Given the description of an element on the screen output the (x, y) to click on. 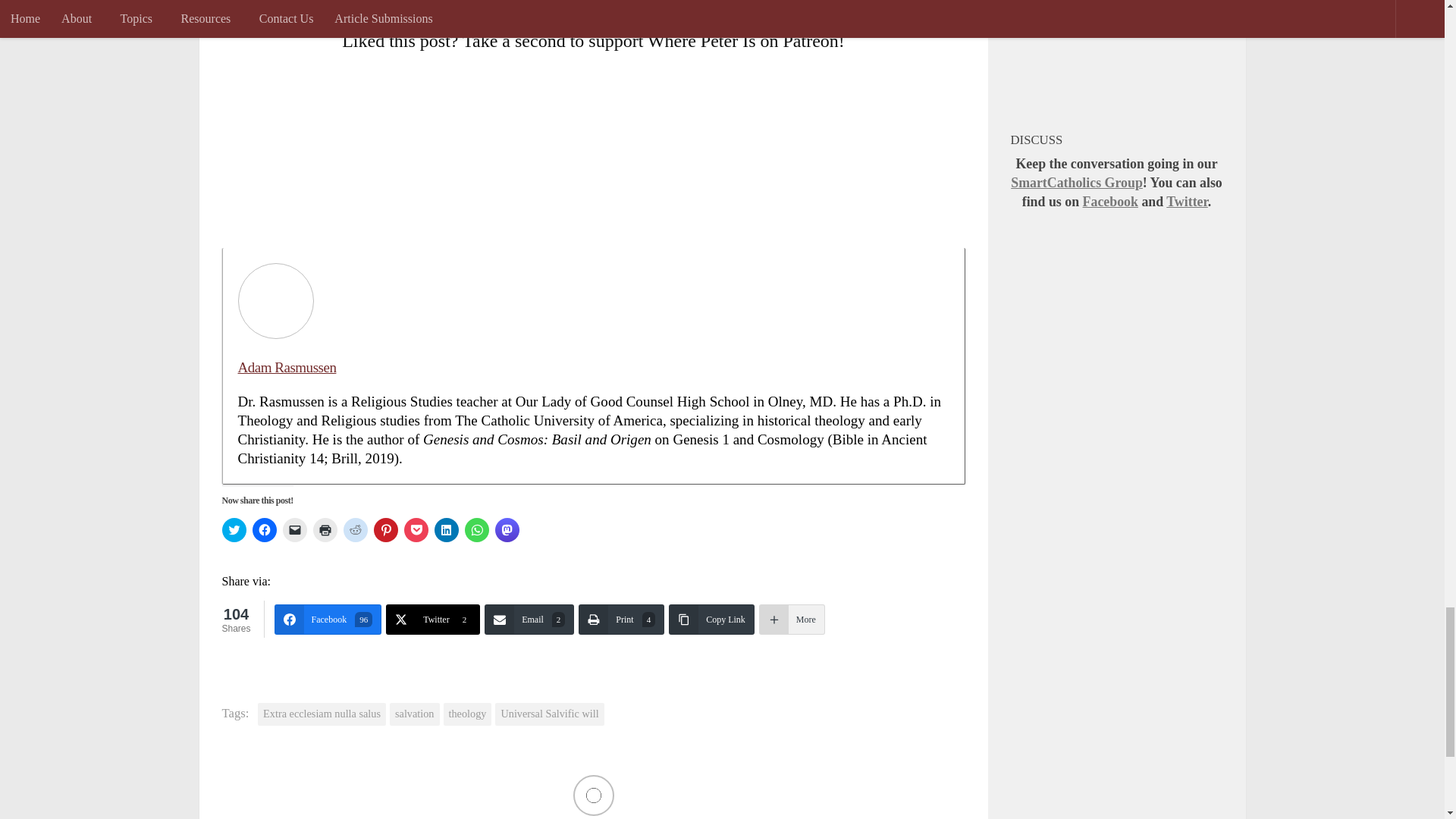
Click to share on Reddit (354, 529)
Click to share on Twitter (233, 529)
Click to share on Pocket (415, 529)
Click to share on WhatsApp (475, 529)
Click to share on LinkedIn (445, 529)
Click to share on Pinterest (384, 529)
Click to email a link to a friend (293, 529)
Click to share on Mastodon (506, 529)
Click to share on Facebook (263, 529)
Click to print (324, 529)
